Given the description of an element on the screen output the (x, y) to click on. 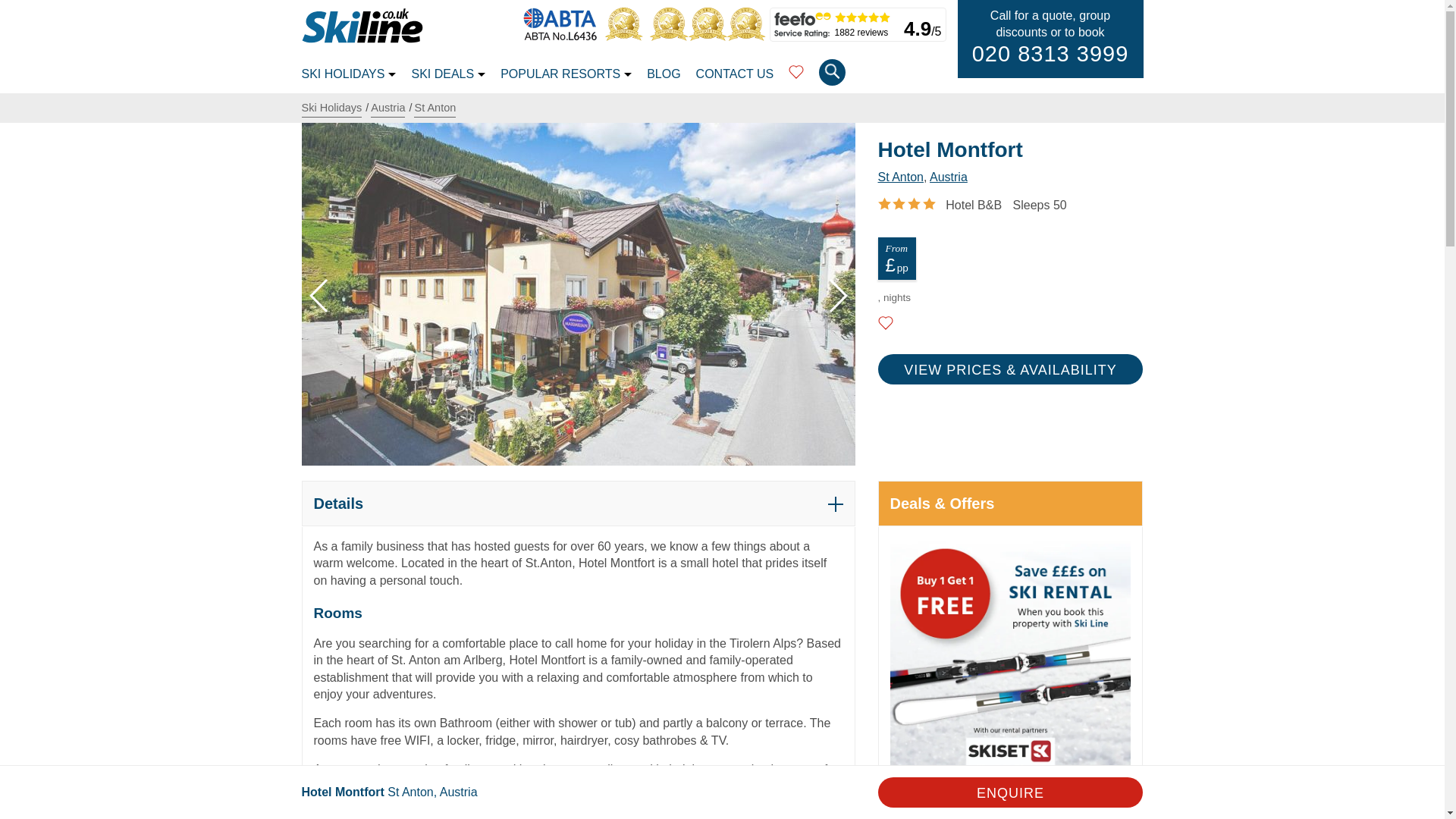
World Ski Awards Top 3 2023 (627, 36)
Favourites (796, 76)
World Ski Awards Top 3 2017 - 2019 (709, 36)
SKI DEALS (447, 75)
020 8313 3999 (1050, 53)
SKI HOLIDAYS (348, 75)
ABTA No.L6436 (563, 36)
